Given the description of an element on the screen output the (x, y) to click on. 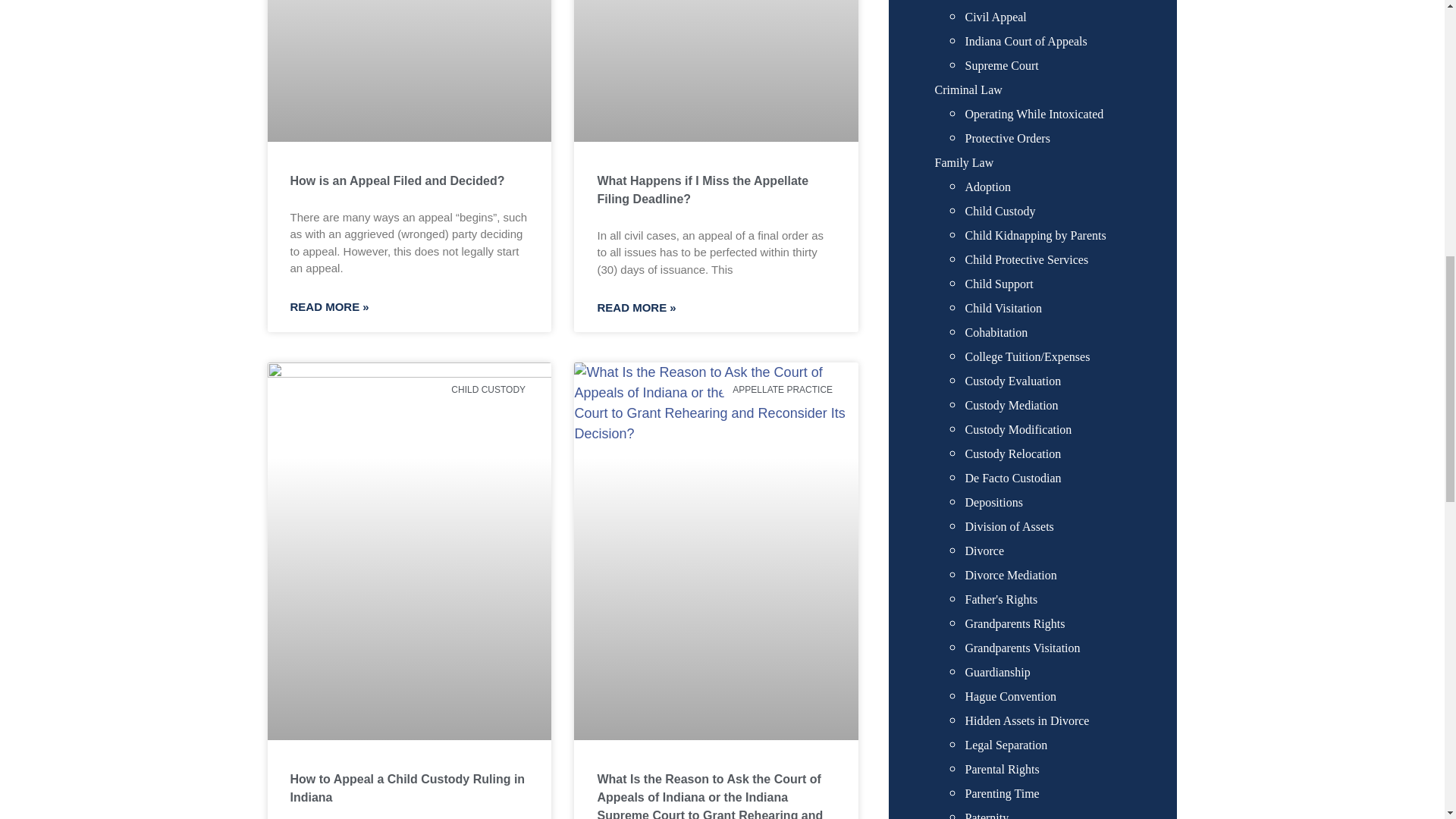
How to Appeal a Child Custody Ruling in Indiana (406, 788)
How is an Appeal Filed and Decided? (396, 180)
What Happens if I Miss the Appellate Filing Deadline? (702, 189)
